Given the description of an element on the screen output the (x, y) to click on. 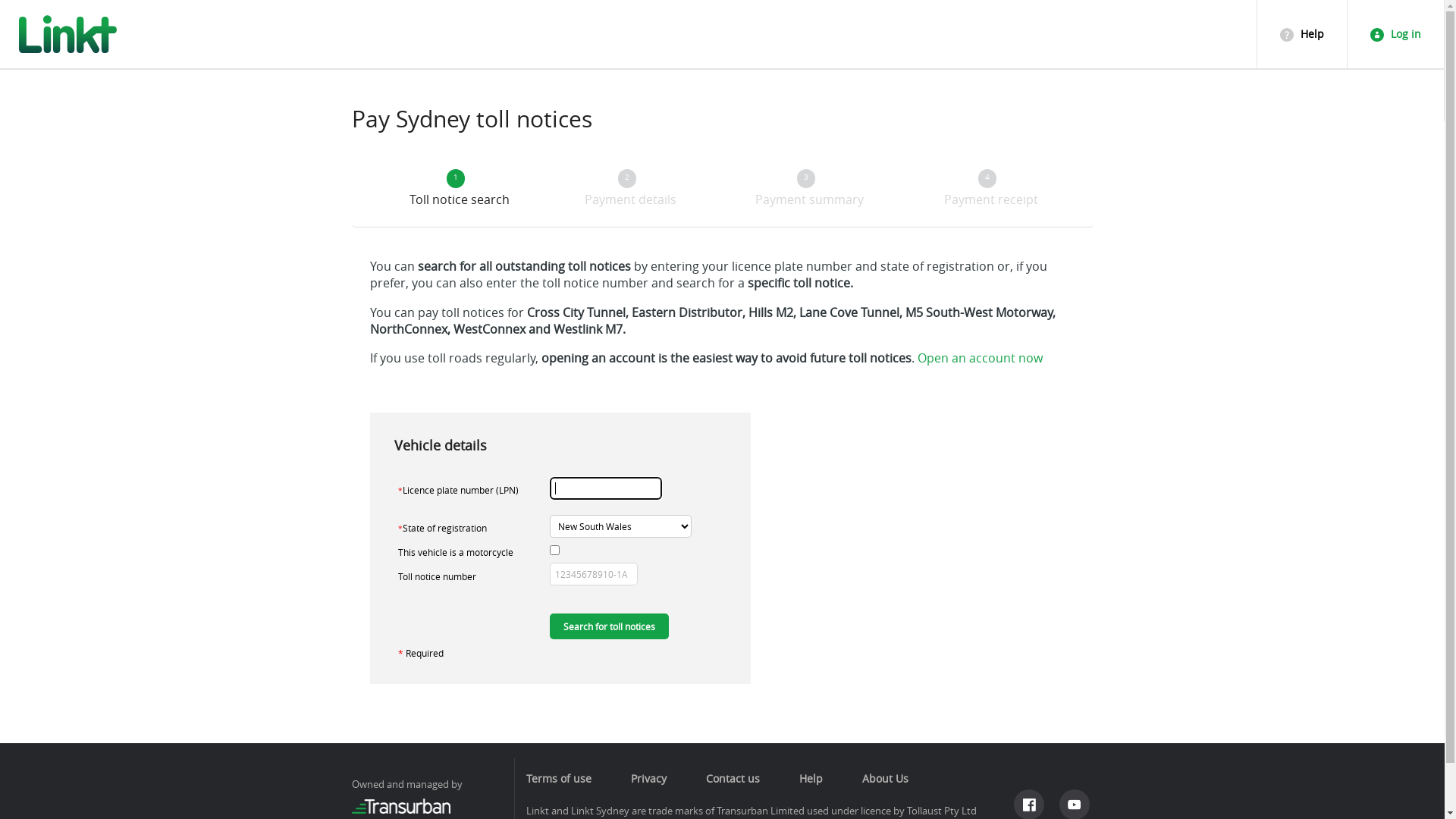
Terms of use Element type: text (566, 778)
Help Element type: text (1301, 56)
Log in Element type: text (1395, 60)
Contact us Element type: text (740, 778)
Help Element type: text (818, 778)
Privacy Element type: text (655, 778)
Search for toll notices Element type: text (608, 626)
Linkt Element type: hover (67, 34)
Open an account now Element type: text (979, 357)
About Us Element type: text (892, 778)
